Given the description of an element on the screen output the (x, y) to click on. 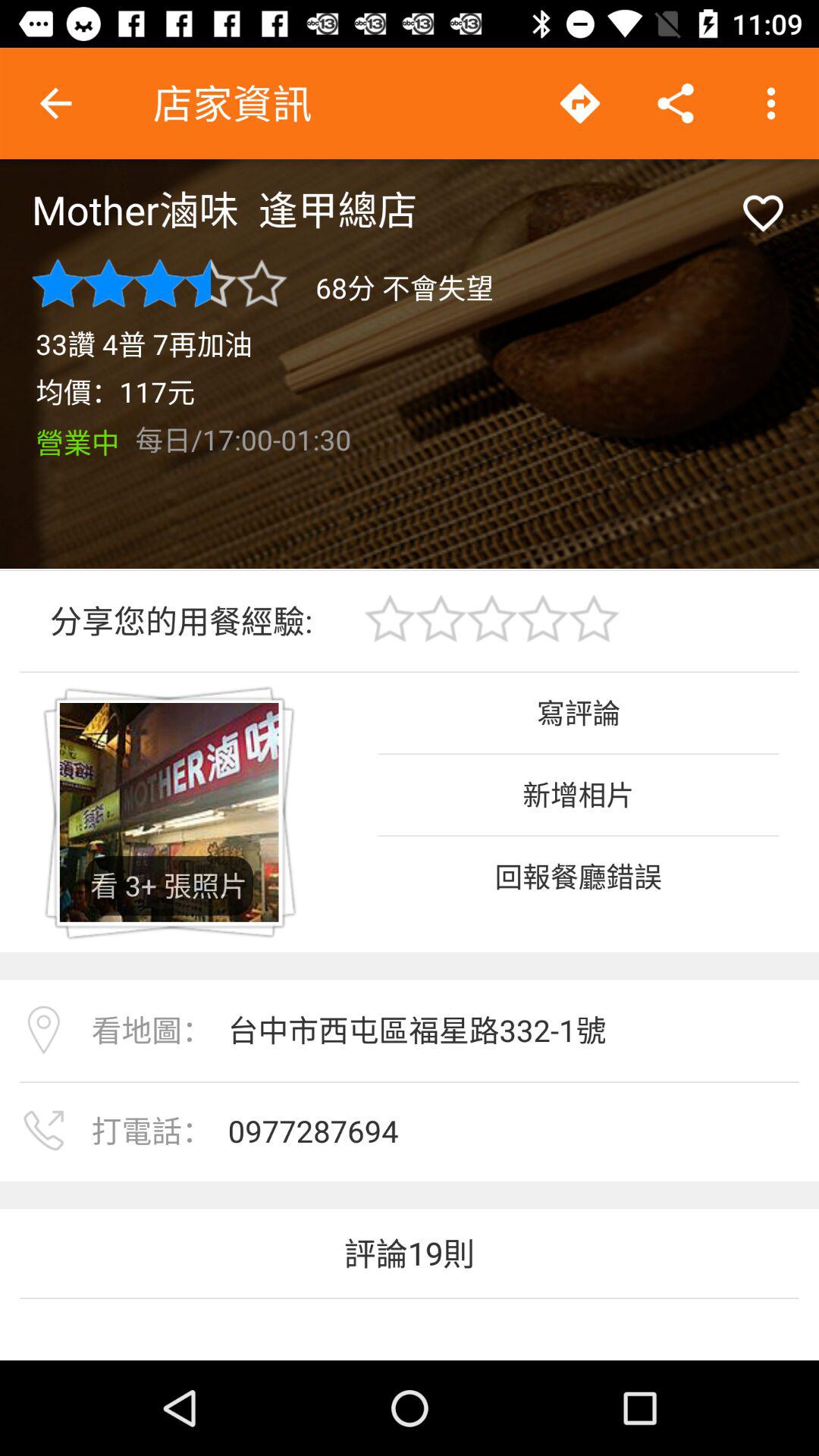
select the image which is below the text (169, 812)
click on the icon beside the share button (580, 103)
select the arrow icon which is on top of the page (580, 103)
click on the 3 vertical dots at the top right corner of the page (771, 103)
select last but third text which is on the right side of the page (578, 875)
